Given the description of an element on the screen output the (x, y) to click on. 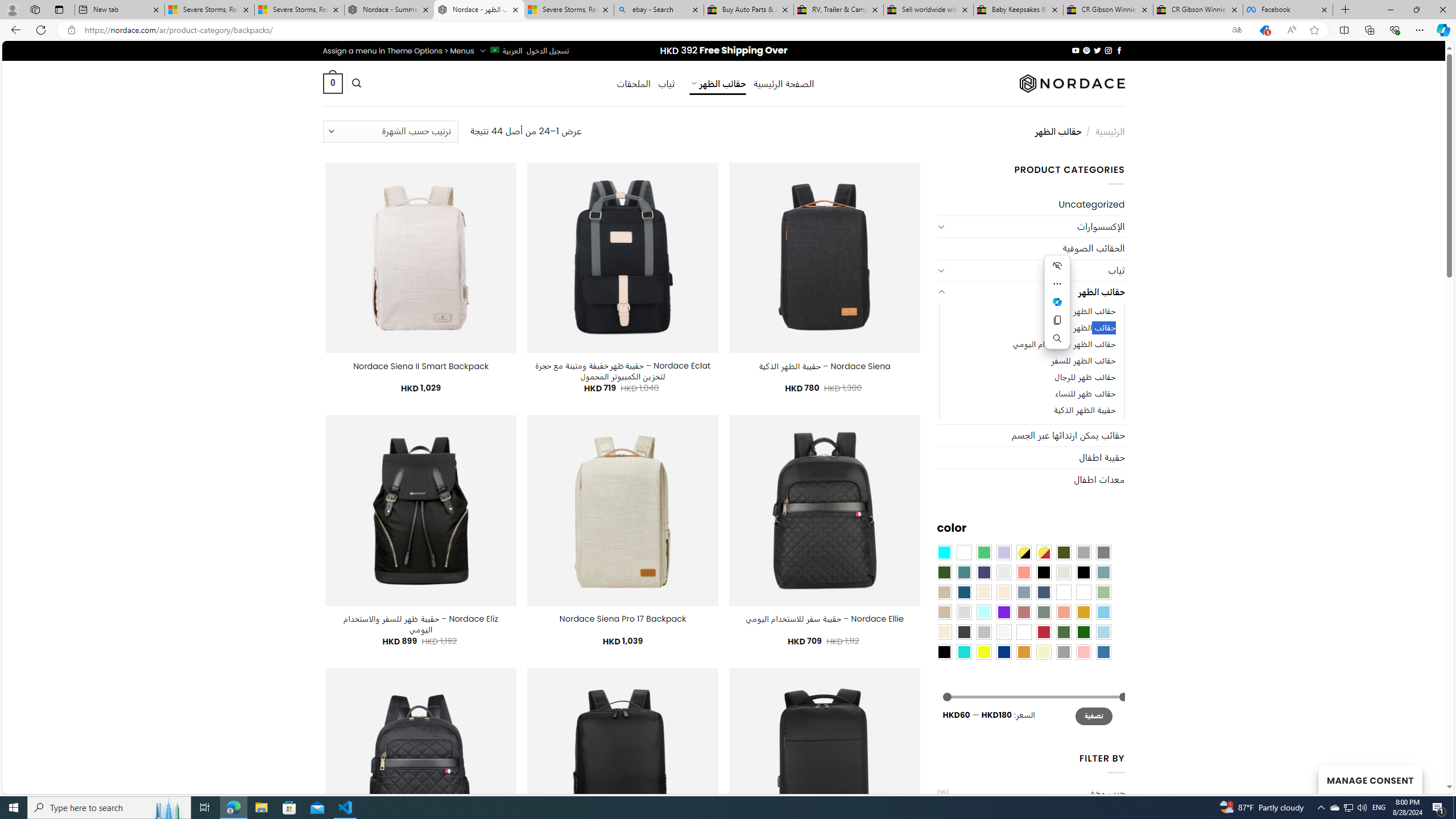
Yellow-Red (1043, 551)
Kelp (1063, 591)
Follow on YouTube (1074, 50)
Dull Nickle (1003, 572)
